Given the description of an element on the screen output the (x, y) to click on. 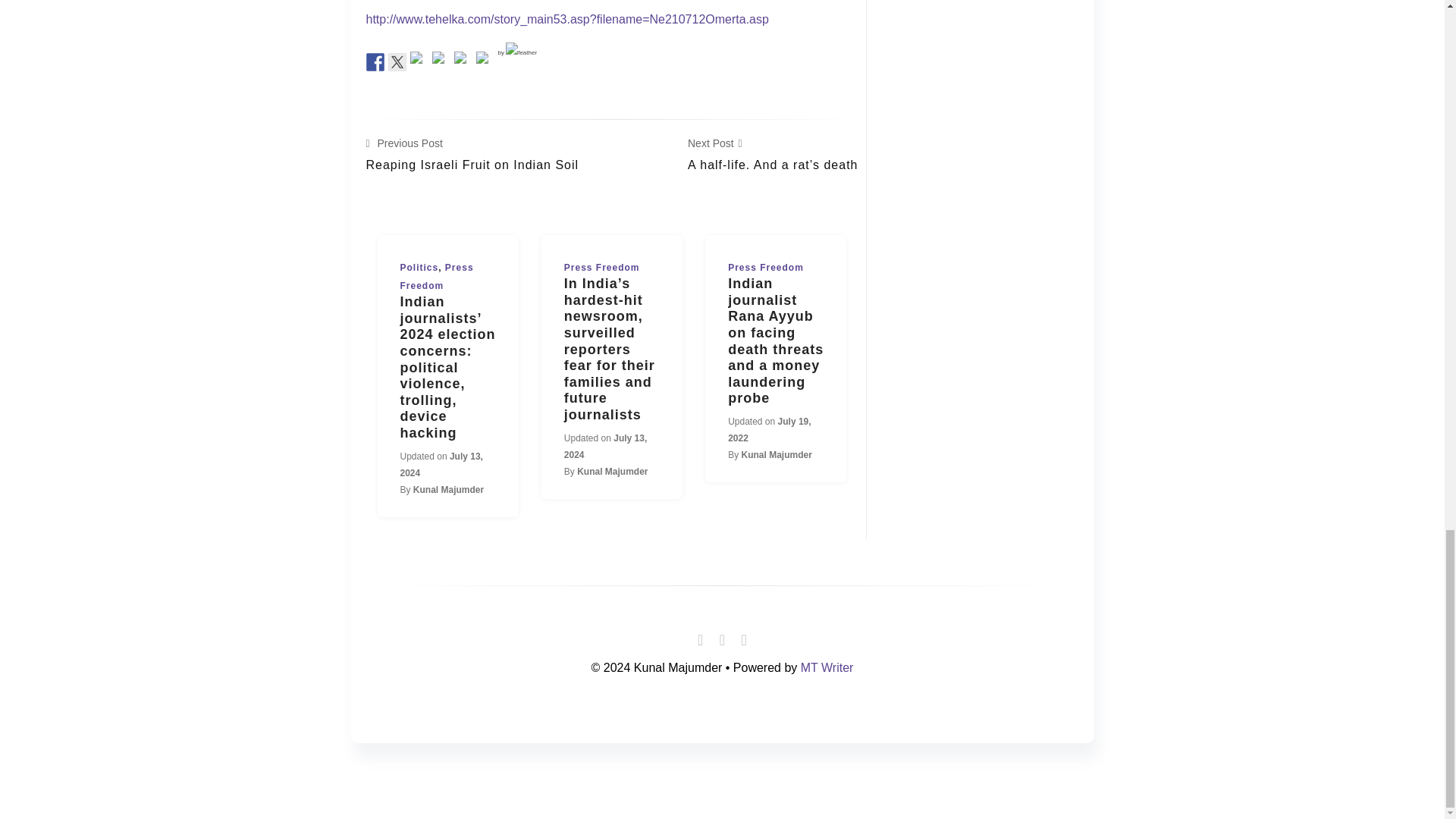
Share on Facebook (374, 60)
Kunal Majumder (448, 489)
July 13, 2024 (441, 464)
Press Freedom (437, 276)
Kunal Majumder (611, 471)
Kunal Majumder (776, 454)
Share on Linkedin (471, 155)
Share on Twitter (461, 60)
by (397, 60)
July 19, 2022 (517, 52)
Share by email (769, 429)
Share on Facebook (485, 60)
Politics (374, 62)
July 13, 2024 (419, 267)
